Given the description of an element on the screen output the (x, y) to click on. 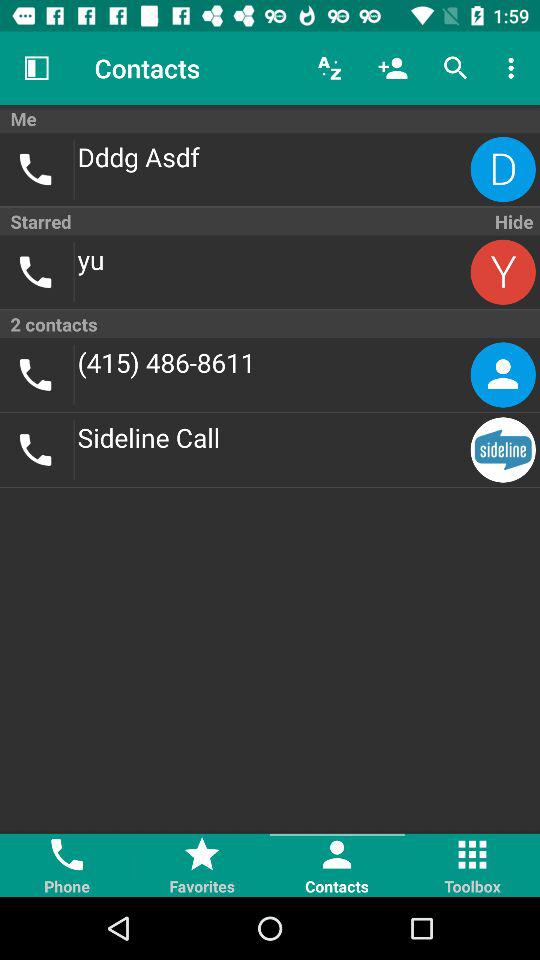
press icon to the right of starred icon (512, 221)
